Given the description of an element on the screen output the (x, y) to click on. 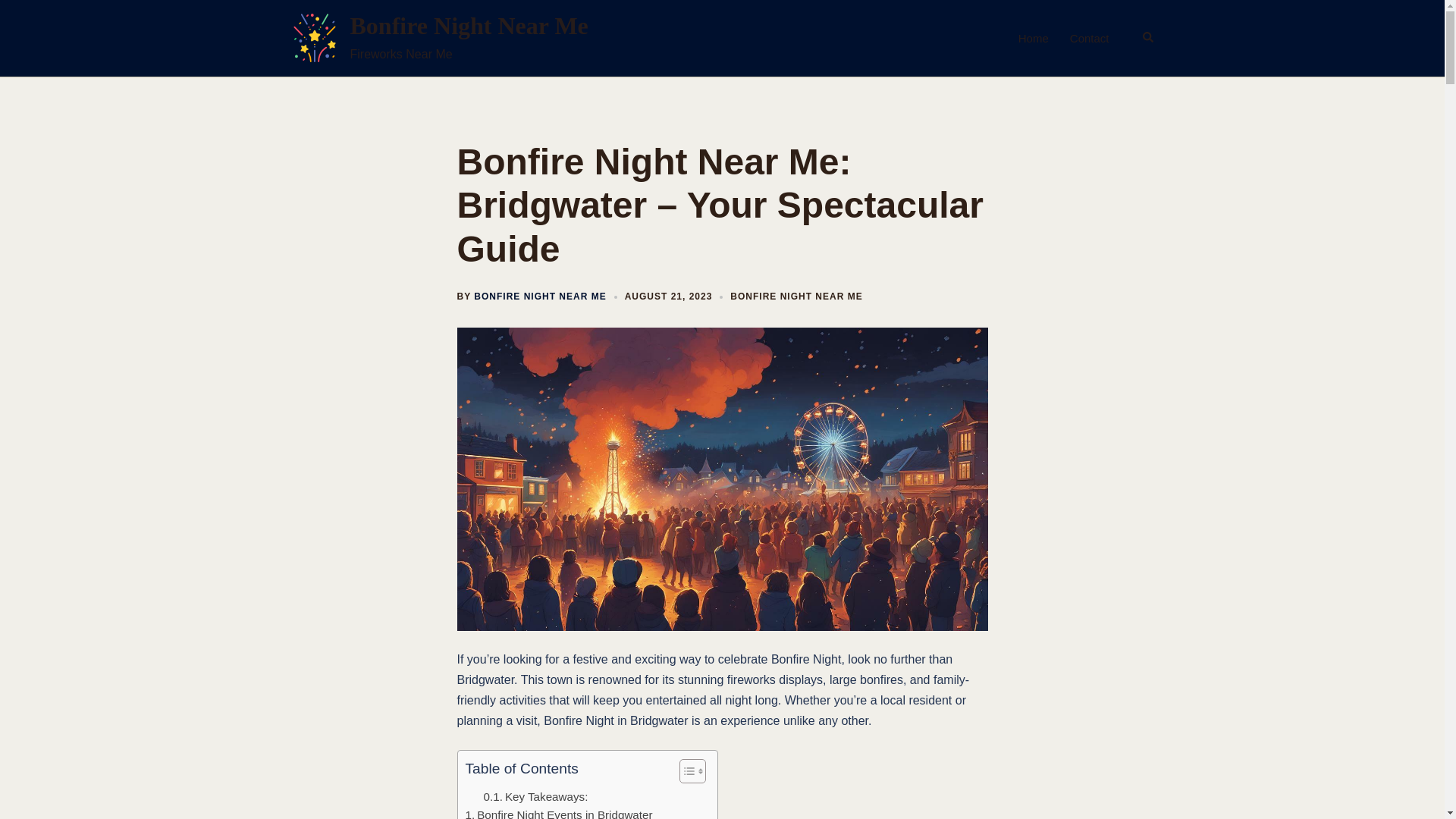
Bonfire Night Near Me (313, 37)
Home (1032, 38)
Bonfire Night Events in Bridgwater (558, 812)
AUGUST 21, 2023 (668, 296)
Key Takeaways: (535, 796)
BONFIRE NIGHT NEAR ME (539, 296)
BONFIRE NIGHT NEAR ME (795, 296)
Bonfire Night Near Me (469, 25)
Contact (1089, 38)
Key Takeaways: (535, 796)
Bonfire Night Events in Bridgwater (558, 812)
Search (1147, 37)
